Given the description of an element on the screen output the (x, y) to click on. 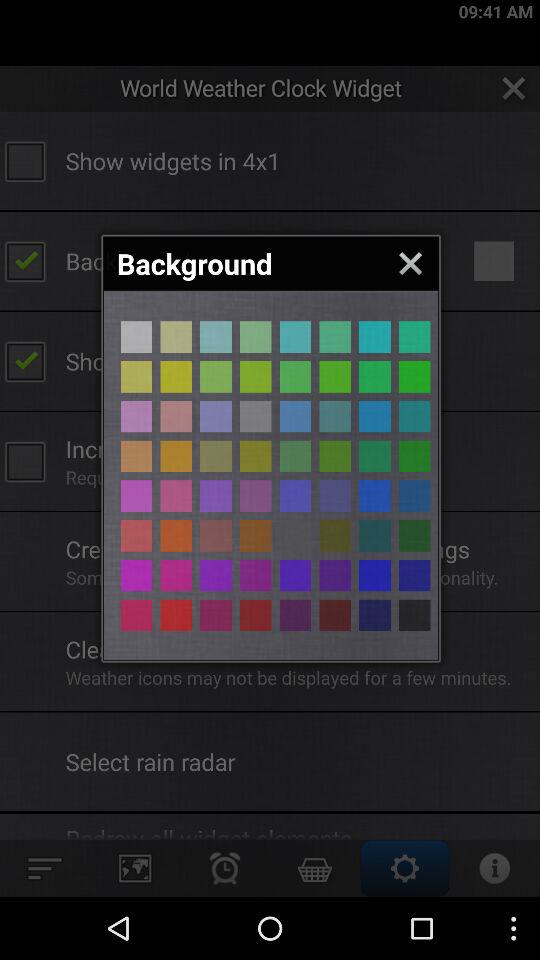
select color (414, 336)
